Given the description of an element on the screen output the (x, y) to click on. 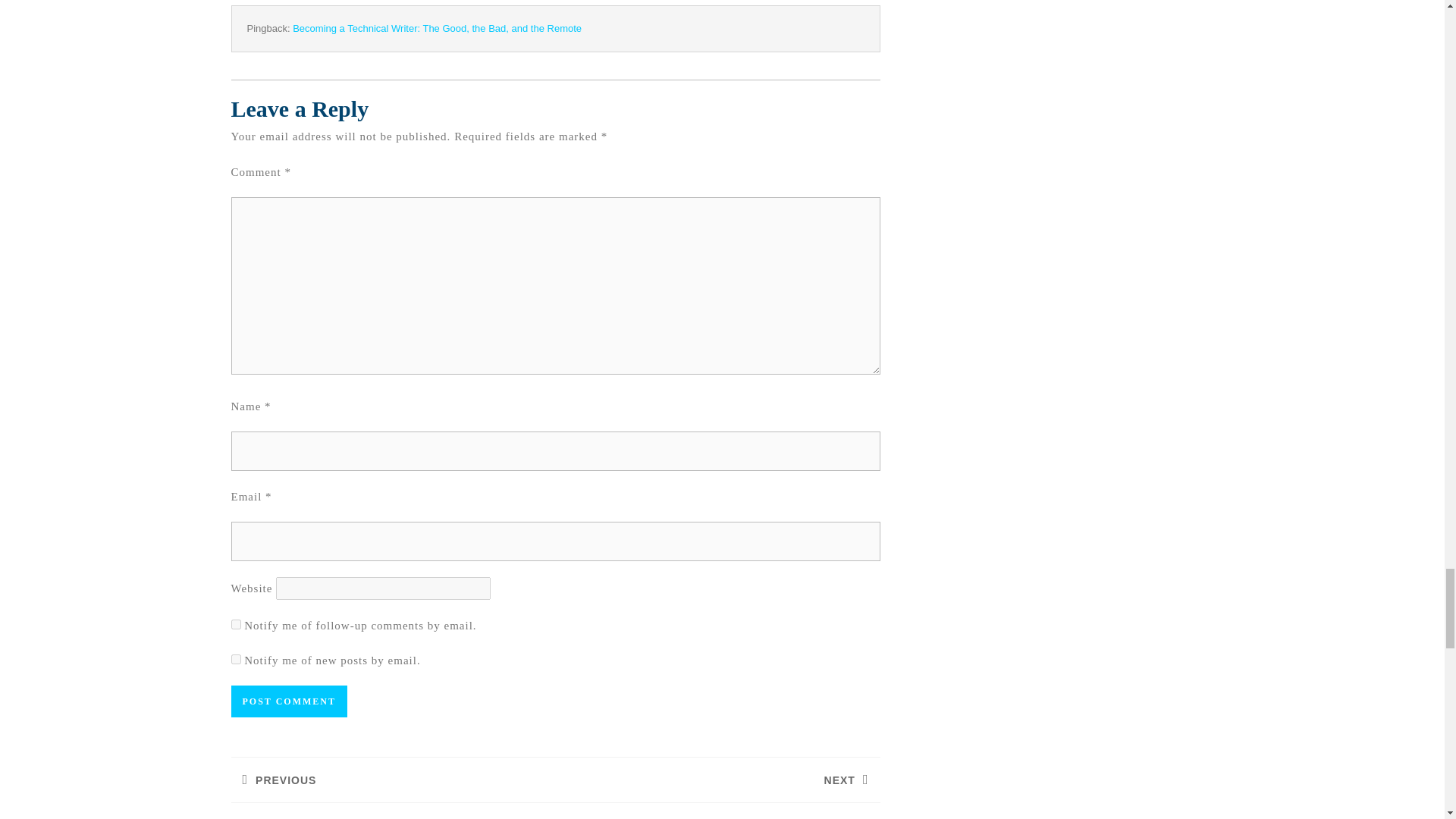
Post Comment (288, 701)
subscribe (235, 624)
subscribe (235, 659)
